Given the description of an element on the screen output the (x, y) to click on. 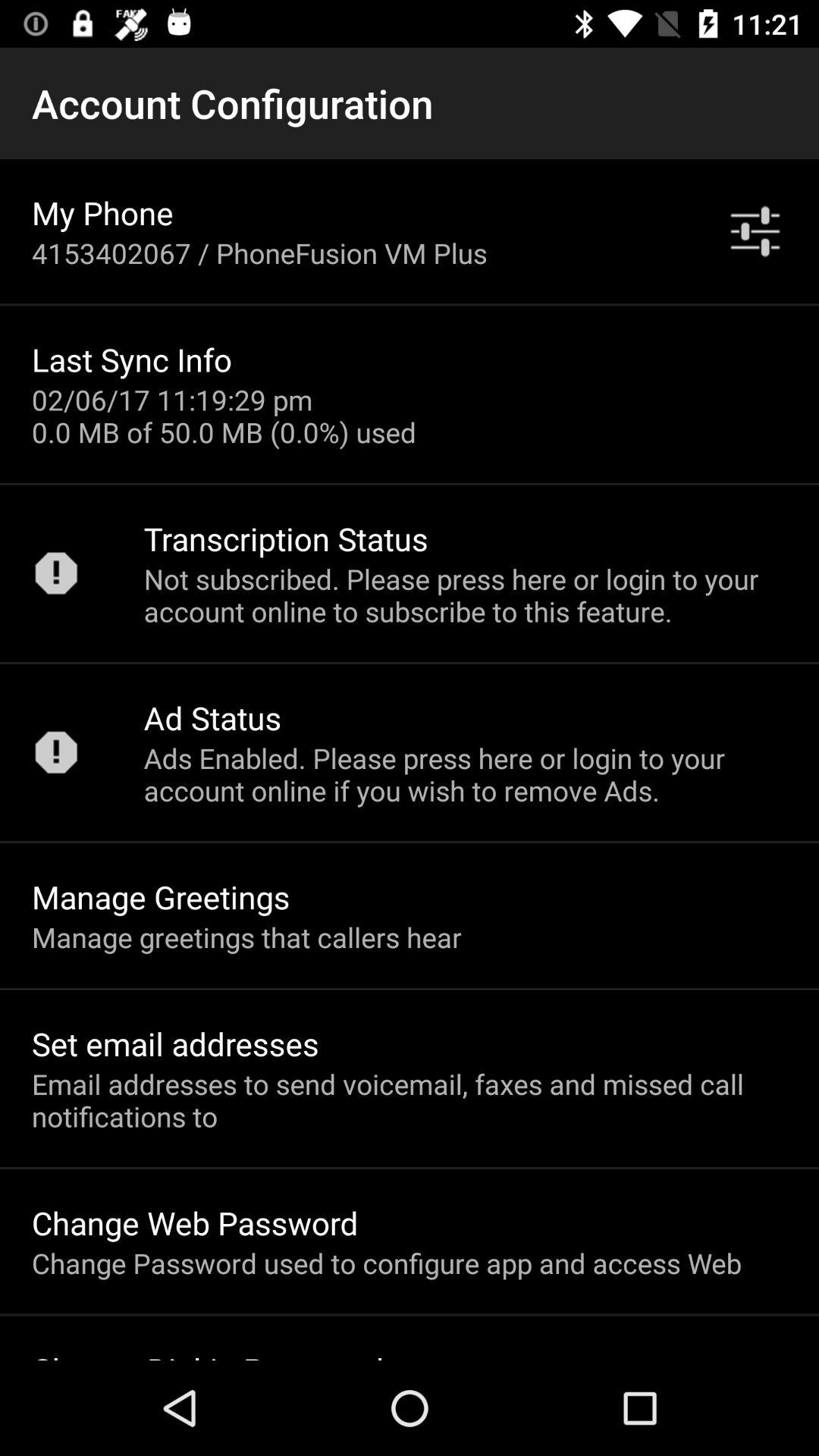
swipe until ad status icon (212, 717)
